Given the description of an element on the screen output the (x, y) to click on. 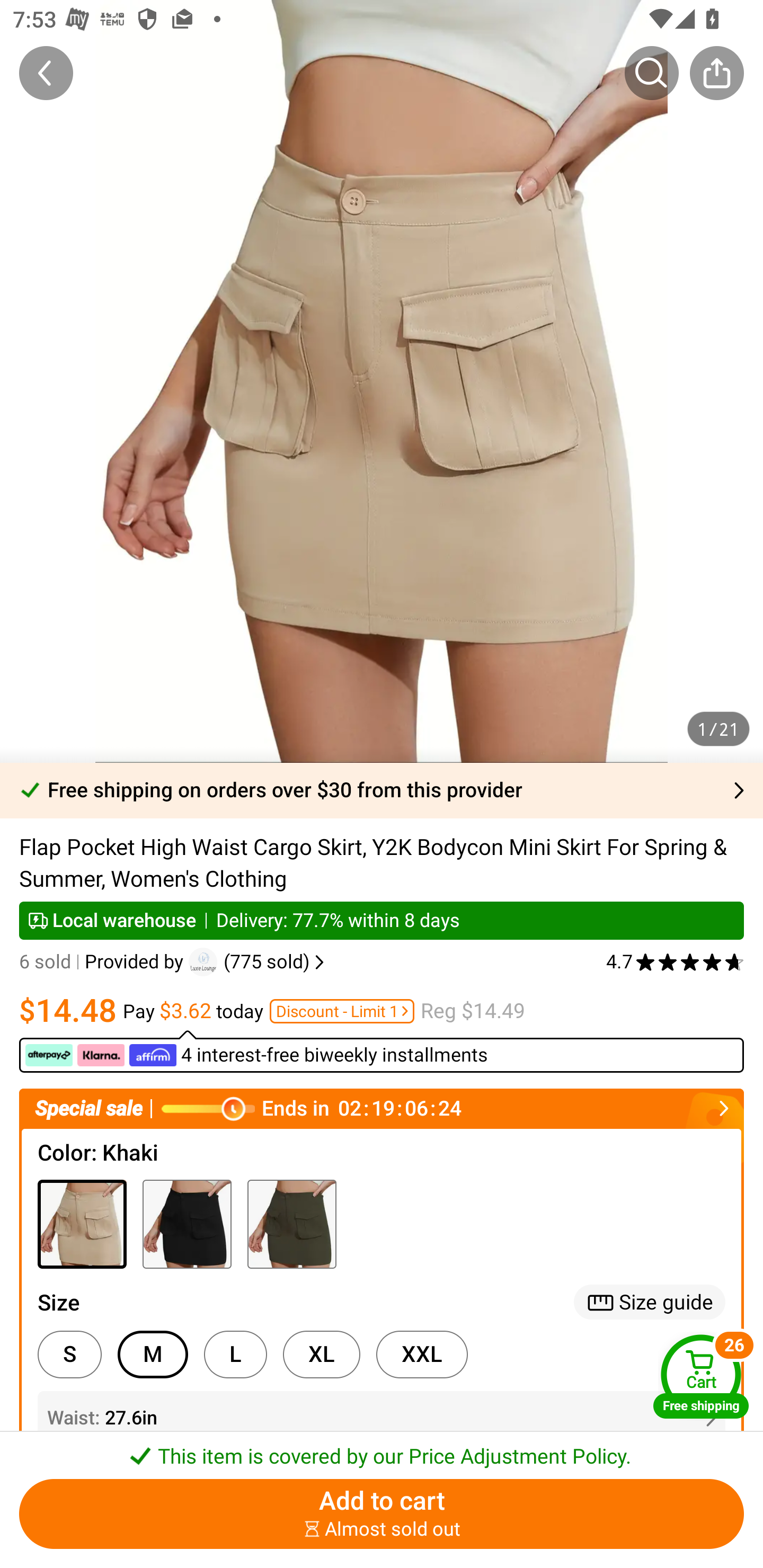
Back (46, 72)
Share (716, 72)
Local warehouse Delivery: 77.7% within 8 days (381, 920)
6 sold Provided by  (103, 961)
4.7 (674, 961)
￼ ￼ ￼ 4 interest-free biweekly installments (381, 1051)
Special sale Ends in￼￼ (381, 1108)
Khaki (81, 1223)
Black (186, 1223)
Army Green (291, 1223)
 Size guide (649, 1302)
S (69, 1354)
M (152, 1354)
L (235, 1354)
XL (321, 1354)
XXL (421, 1354)
Cart Free shipping Cart (701, 1375)
Waist: 27.6in￼ (381, 1417)
Add to cart ￼￼Almost sold out (381, 1513)
